Given the description of an element on the screen output the (x, y) to click on. 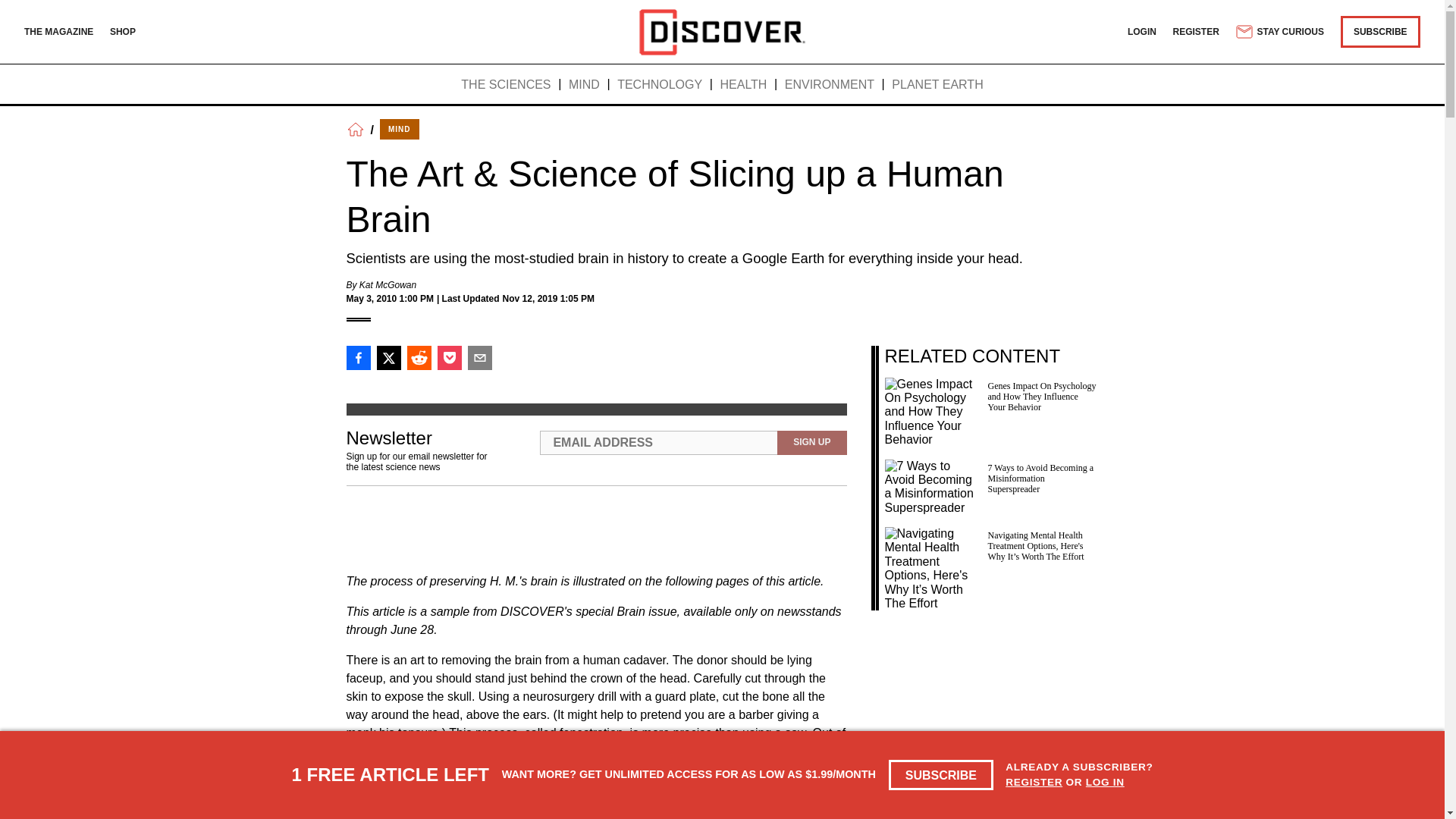
ENVIRONMENT (829, 84)
PLANET EARTH (936, 84)
STAY CURIOUS (1278, 31)
Audio Article (590, 528)
REGISTER (1196, 31)
SHOP (122, 31)
SUBSCRIBE (941, 775)
TECHNOLOGY (659, 84)
LOGIN (1141, 31)
THE SCIENCES (505, 84)
Kat McGowan (387, 285)
SUBSCRIBE (1380, 31)
LOG IN (1105, 781)
REGISTER (1034, 781)
THE MAGAZINE (58, 31)
